Given the description of an element on the screen output the (x, y) to click on. 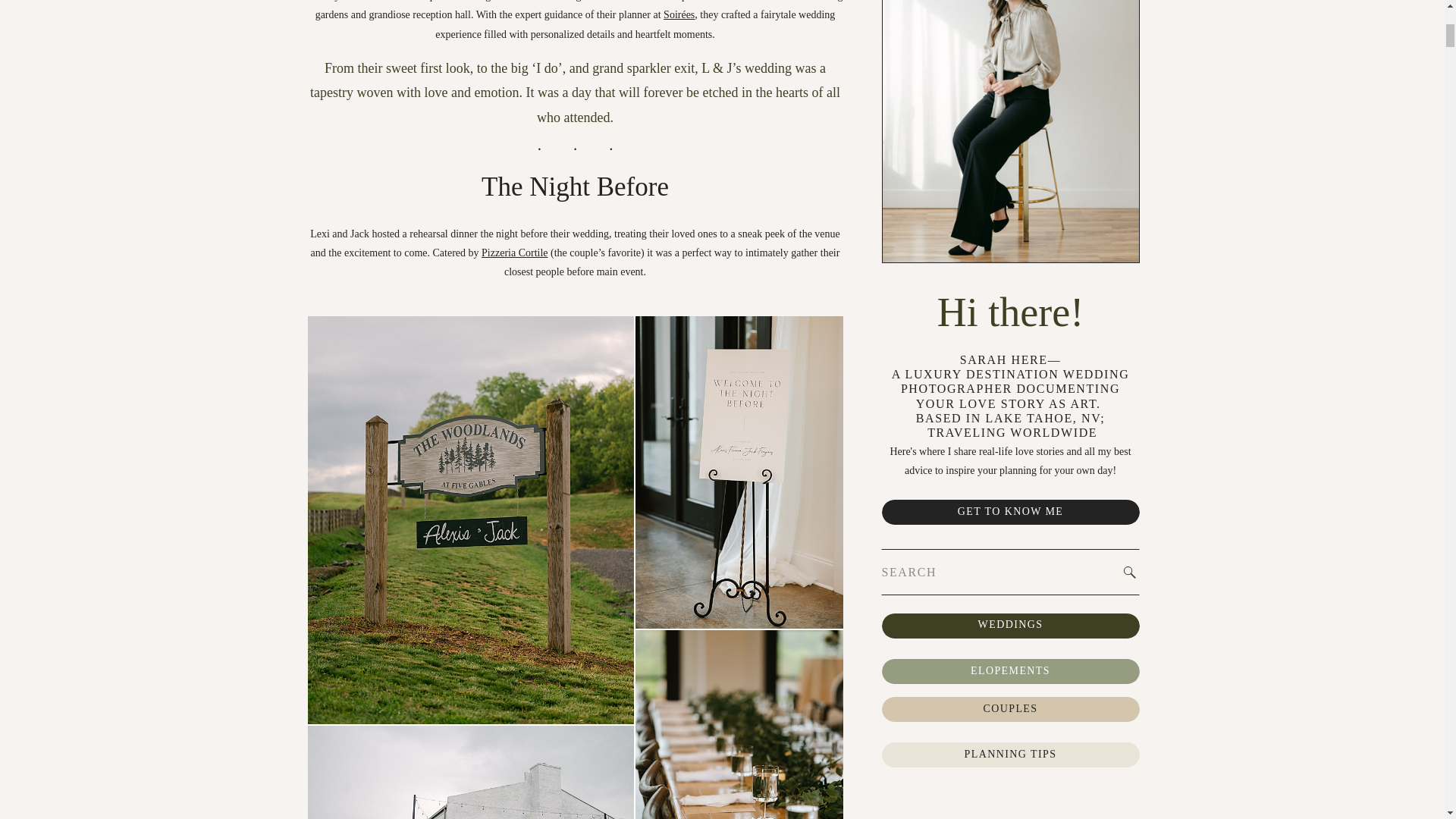
PLANNING TIPS (1009, 755)
ELOPEMENTS (1009, 672)
Pizzeria Cortile (514, 252)
GET TO KNOW ME (1009, 513)
WEDDINGS (1009, 626)
COUPLES (1009, 709)
